Given the description of an element on the screen output the (x, y) to click on. 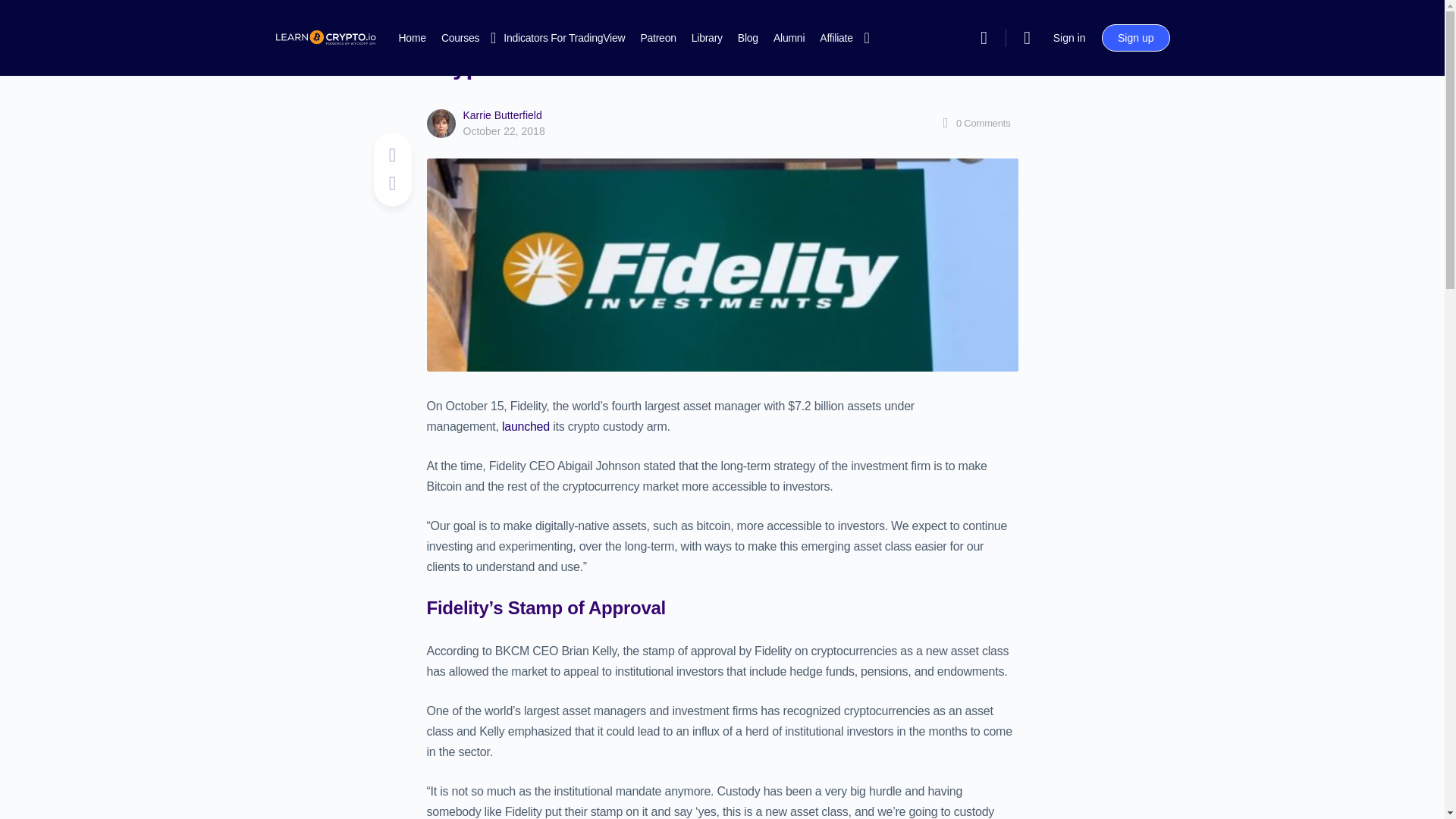
Indicators For TradingView (563, 38)
Sign in (1068, 37)
Sign up (1135, 37)
